Given the description of an element on the screen output the (x, y) to click on. 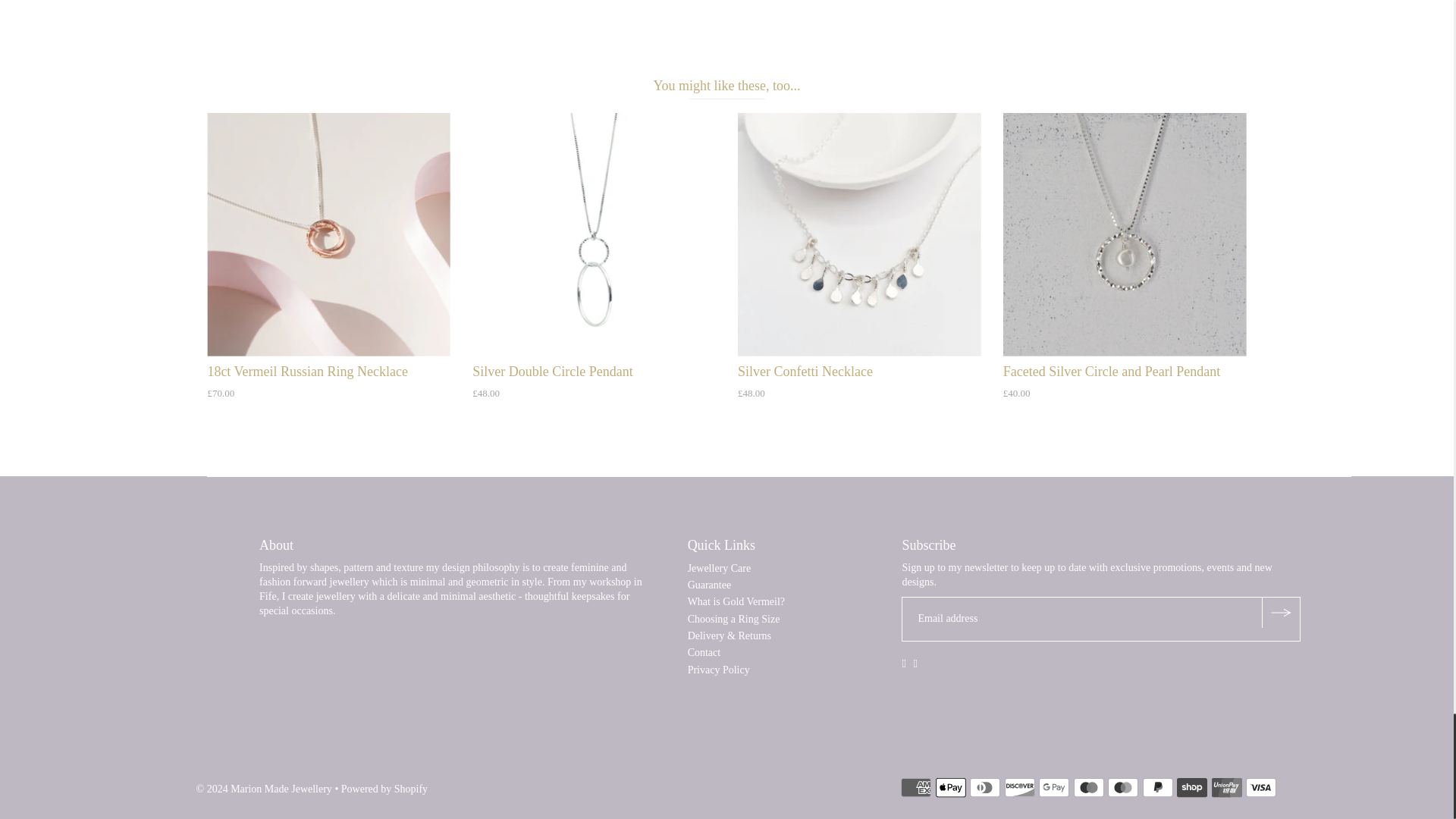
Diners Club (984, 787)
Google Pay (1053, 787)
Maestro (1088, 787)
Visa (1261, 787)
Shop Pay (1191, 787)
Mastercard (1123, 787)
American Express (916, 787)
PayPal (1157, 787)
Apple Pay (951, 787)
Union Pay (1226, 787)
Discover (1019, 787)
